Given the description of an element on the screen output the (x, y) to click on. 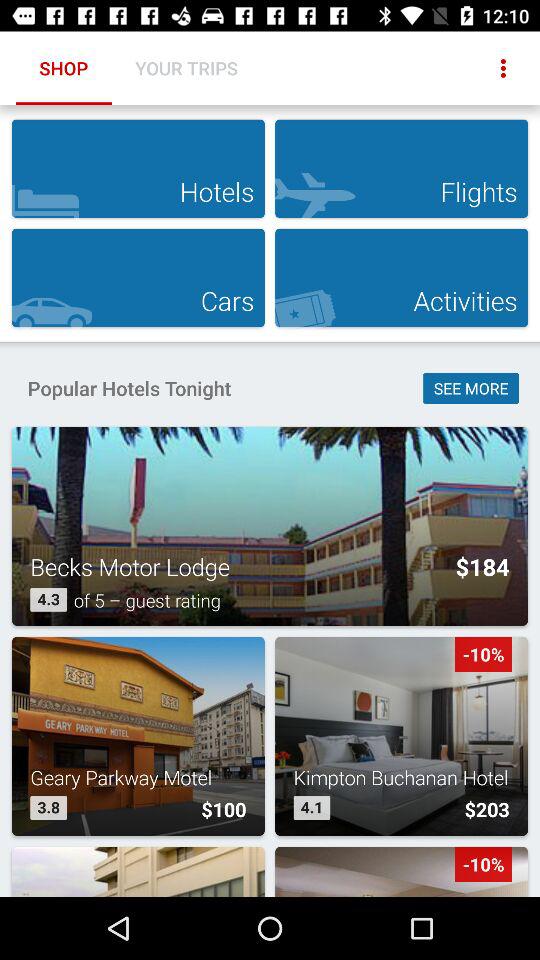
choose item next to the your trips icon (503, 68)
